Given the description of an element on the screen output the (x, y) to click on. 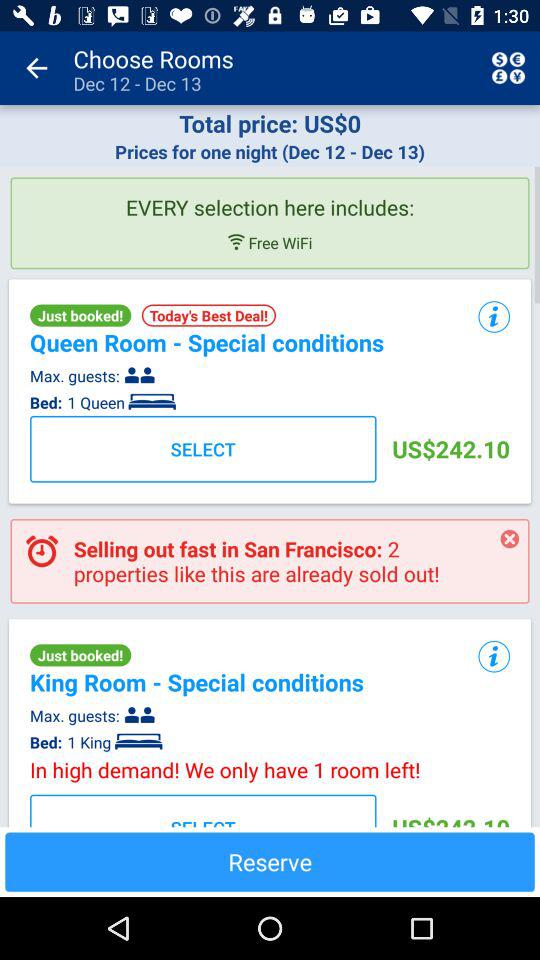
select the icon above the us$242.10 (493, 657)
